Given the description of an element on the screen output the (x, y) to click on. 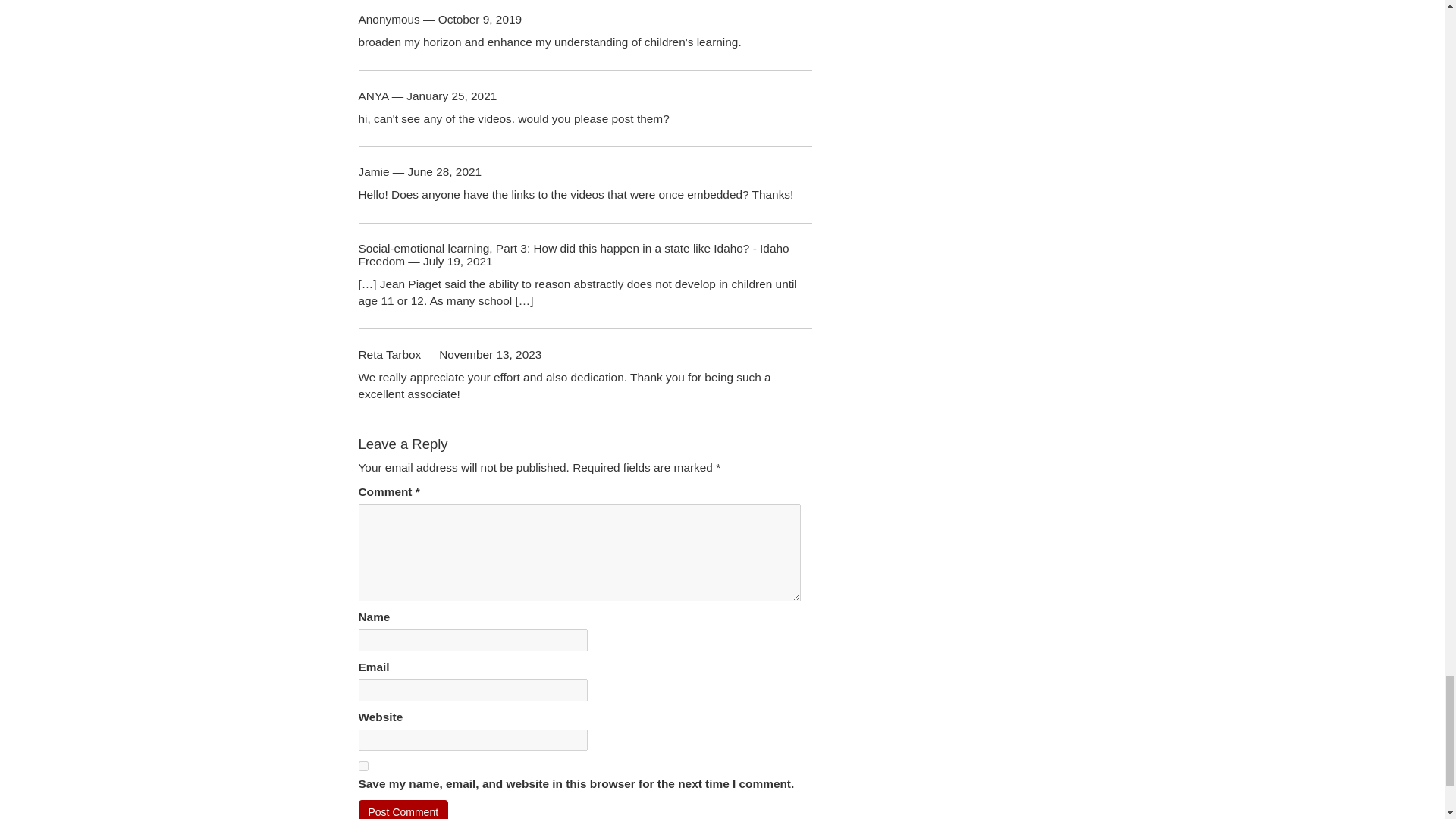
Post Comment (403, 809)
Post Comment (403, 809)
yes (363, 766)
